Given the description of an element on the screen output the (x, y) to click on. 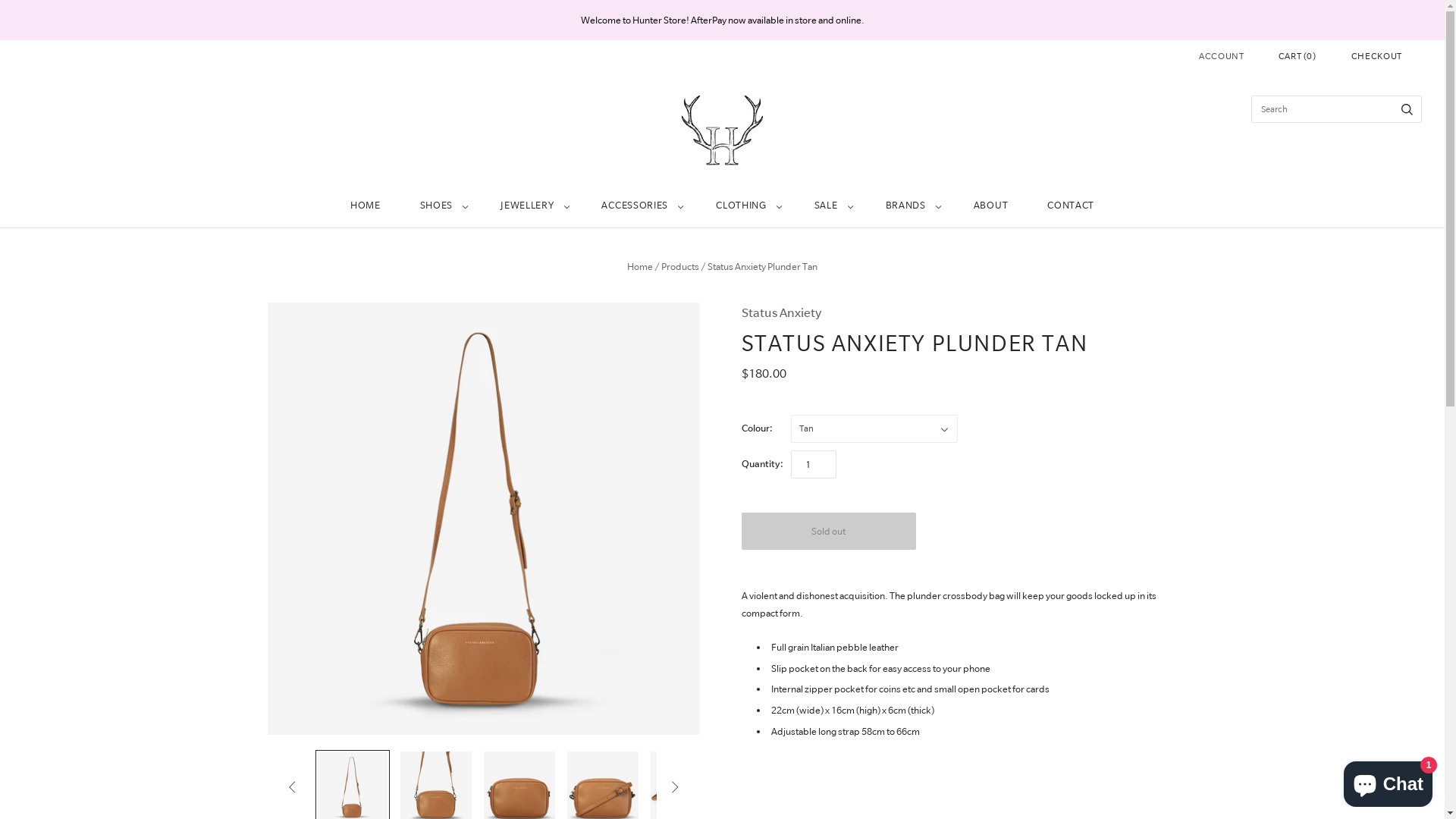
Home Element type: text (639, 266)
HOME Element type: text (365, 205)
Sold out Element type: text (828, 530)
CHECKOUT Element type: text (1376, 56)
ABOUT Element type: text (990, 205)
ACCOUNT Element type: text (1221, 55)
CONTACT Element type: text (1070, 205)
Shopify online store chat Element type: hover (1388, 780)
CART (0) Element type: text (1297, 56)
Status Anxiety Element type: text (959, 313)
Products Element type: text (680, 266)
